Given the description of an element on the screen output the (x, y) to click on. 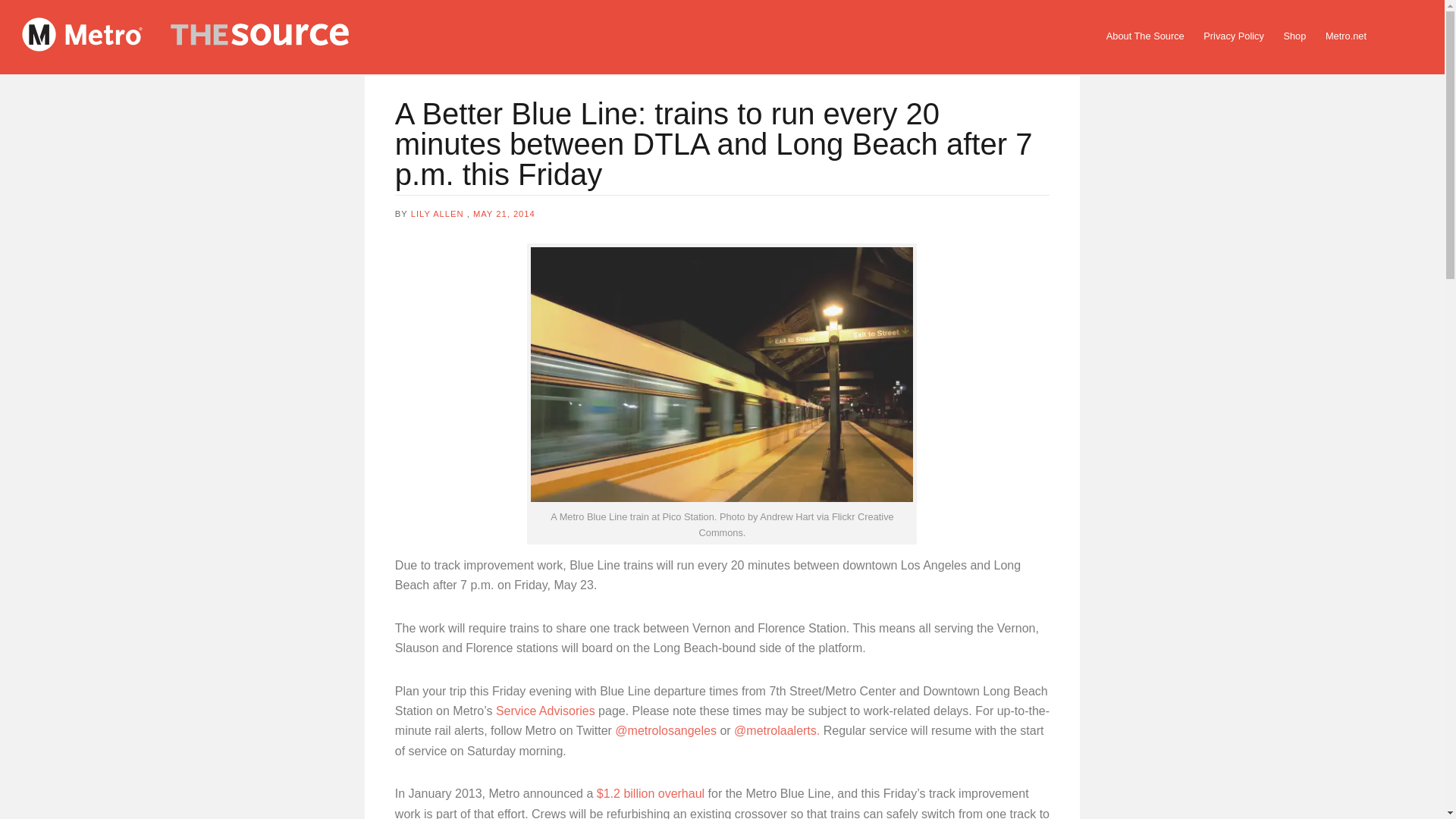
LILY ALLEN (437, 213)
The Source (211, 37)
MAY 21, 2014 (504, 213)
Shop (1294, 36)
About The Source (1144, 36)
Metro.net (1345, 36)
2:04 pm (504, 213)
Service Advisories (545, 710)
View all posts by Lily Allen (437, 213)
Privacy Policy (1233, 36)
